Given the description of an element on the screen output the (x, y) to click on. 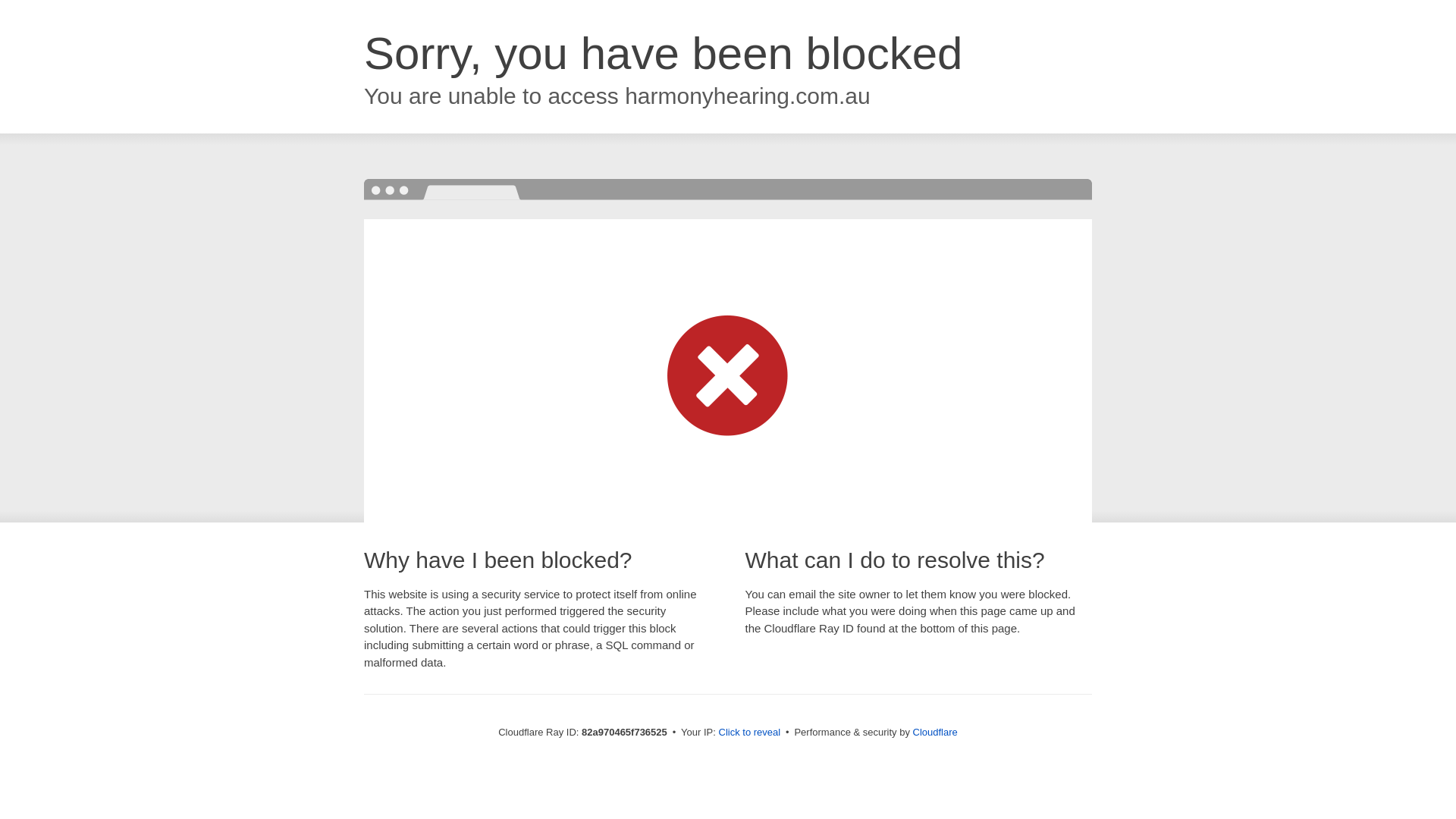
Click to reveal Element type: text (749, 732)
Cloudflare Element type: text (935, 731)
